Given the description of an element on the screen output the (x, y) to click on. 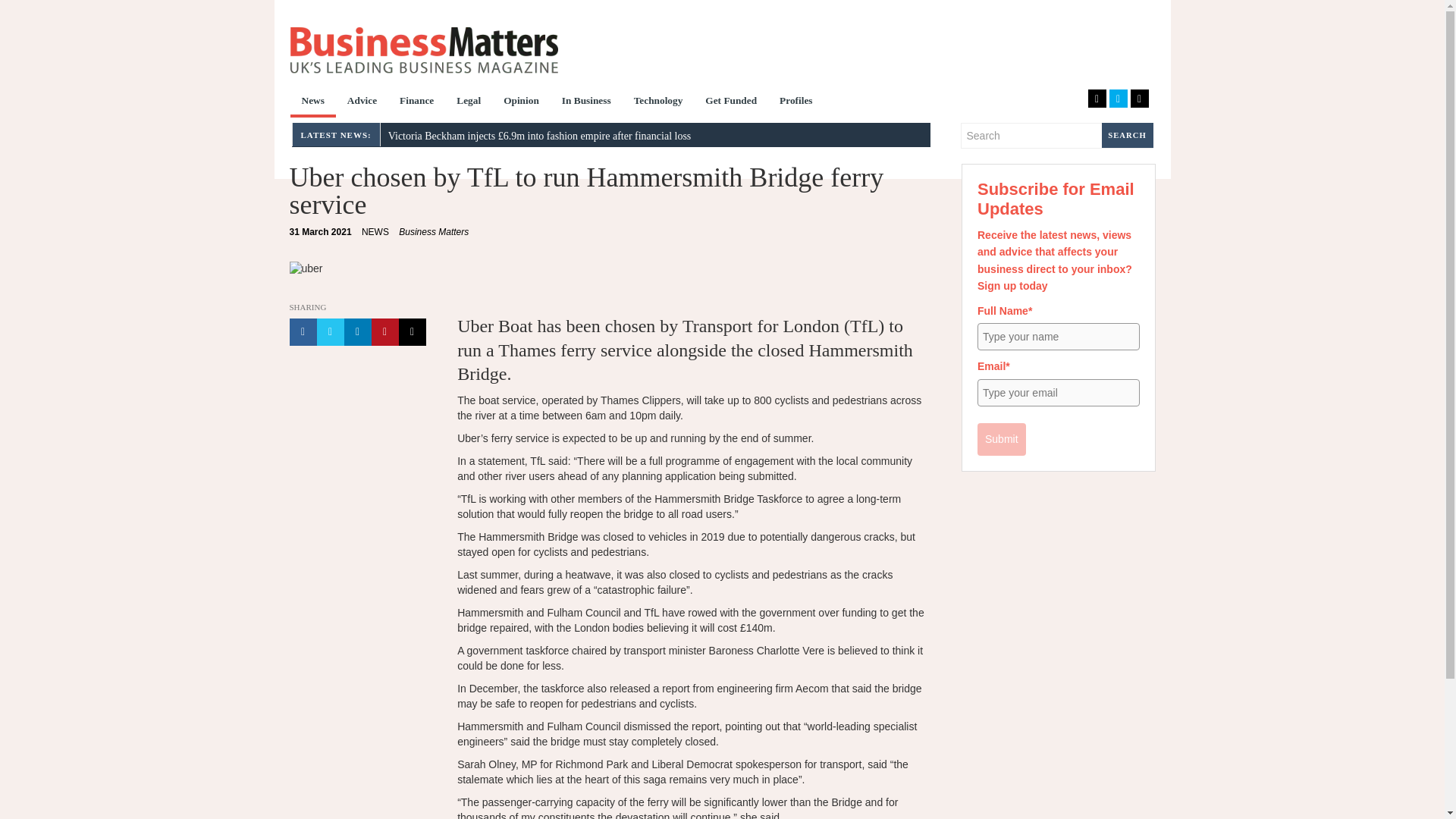
In Business (586, 101)
Finance (416, 101)
Business Matters (433, 231)
Legal (468, 101)
News (311, 101)
31 March 2021 (320, 231)
Profiles (796, 101)
Opinion (521, 101)
Technology (658, 101)
Advice (362, 101)
